Given the description of an element on the screen output the (x, y) to click on. 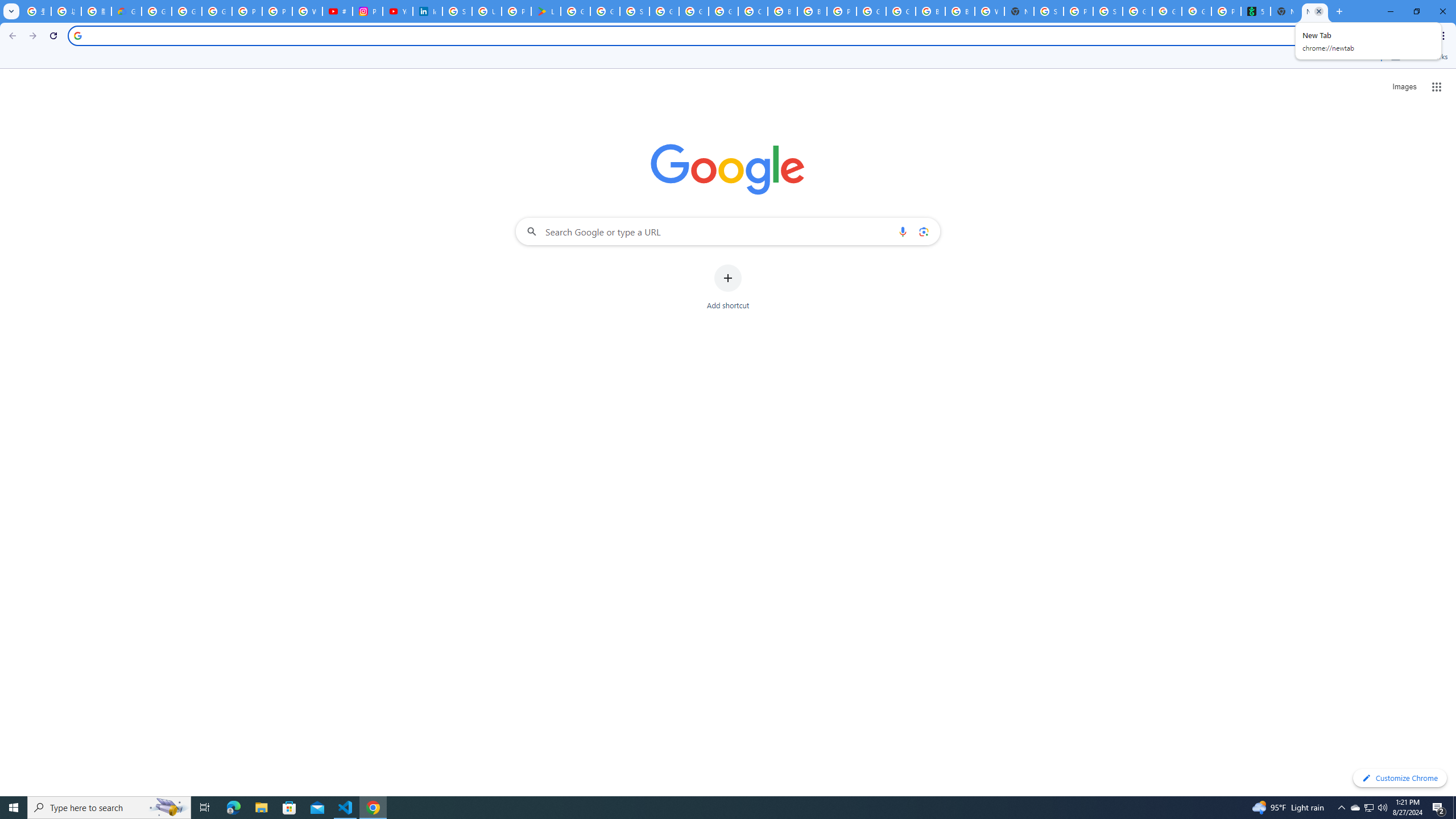
Google Workspace - Specific Terms (604, 11)
Search by voice (902, 230)
All Bookmarks (1418, 56)
Search Google or type a URL (727, 230)
Bookmarks (728, 58)
Browse Chrome as a guest - Computer - Google Chrome Help (959, 11)
